Given the description of an element on the screen output the (x, y) to click on. 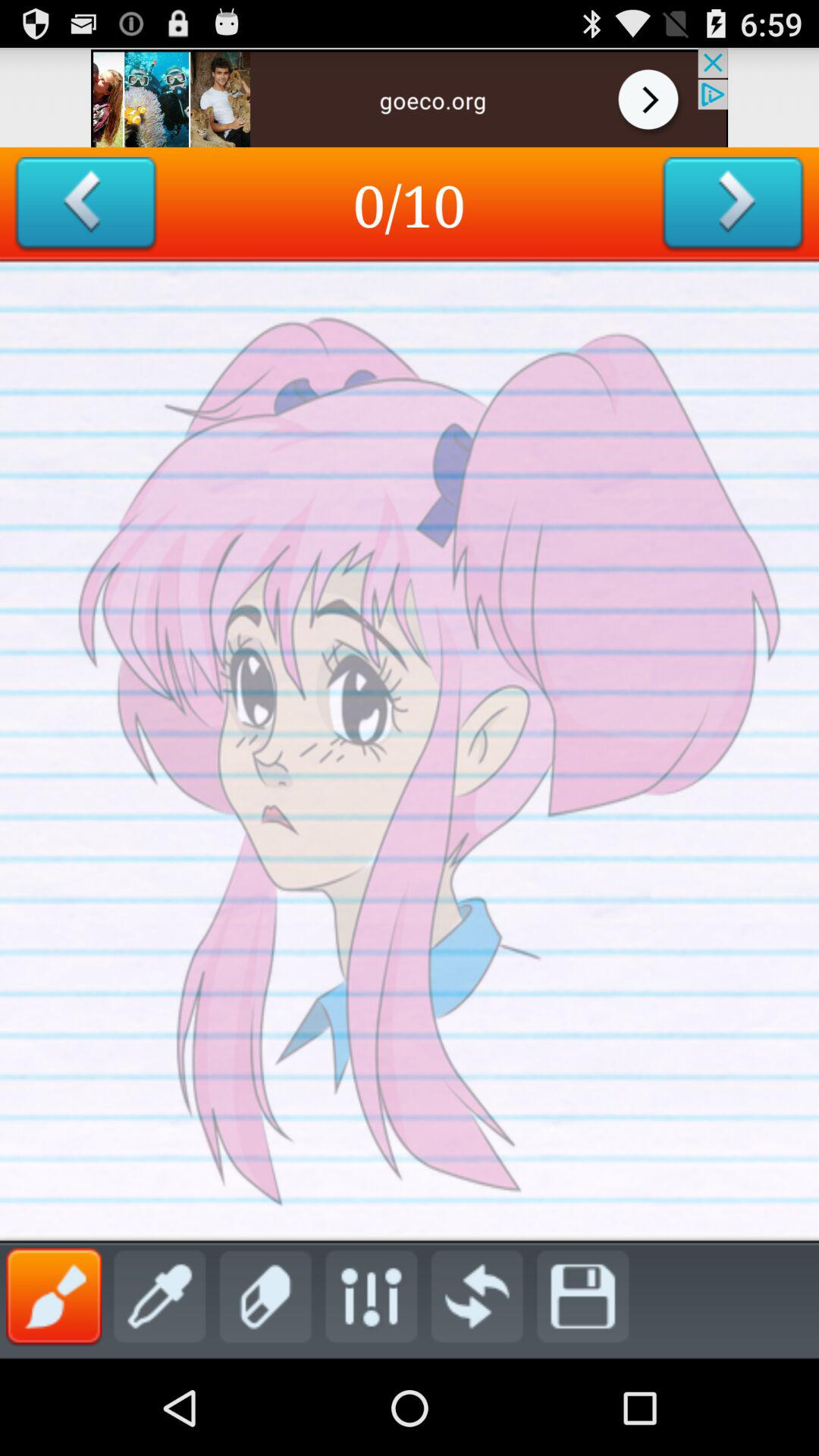
goes to the next slide (732, 204)
